Given the description of an element on the screen output the (x, y) to click on. 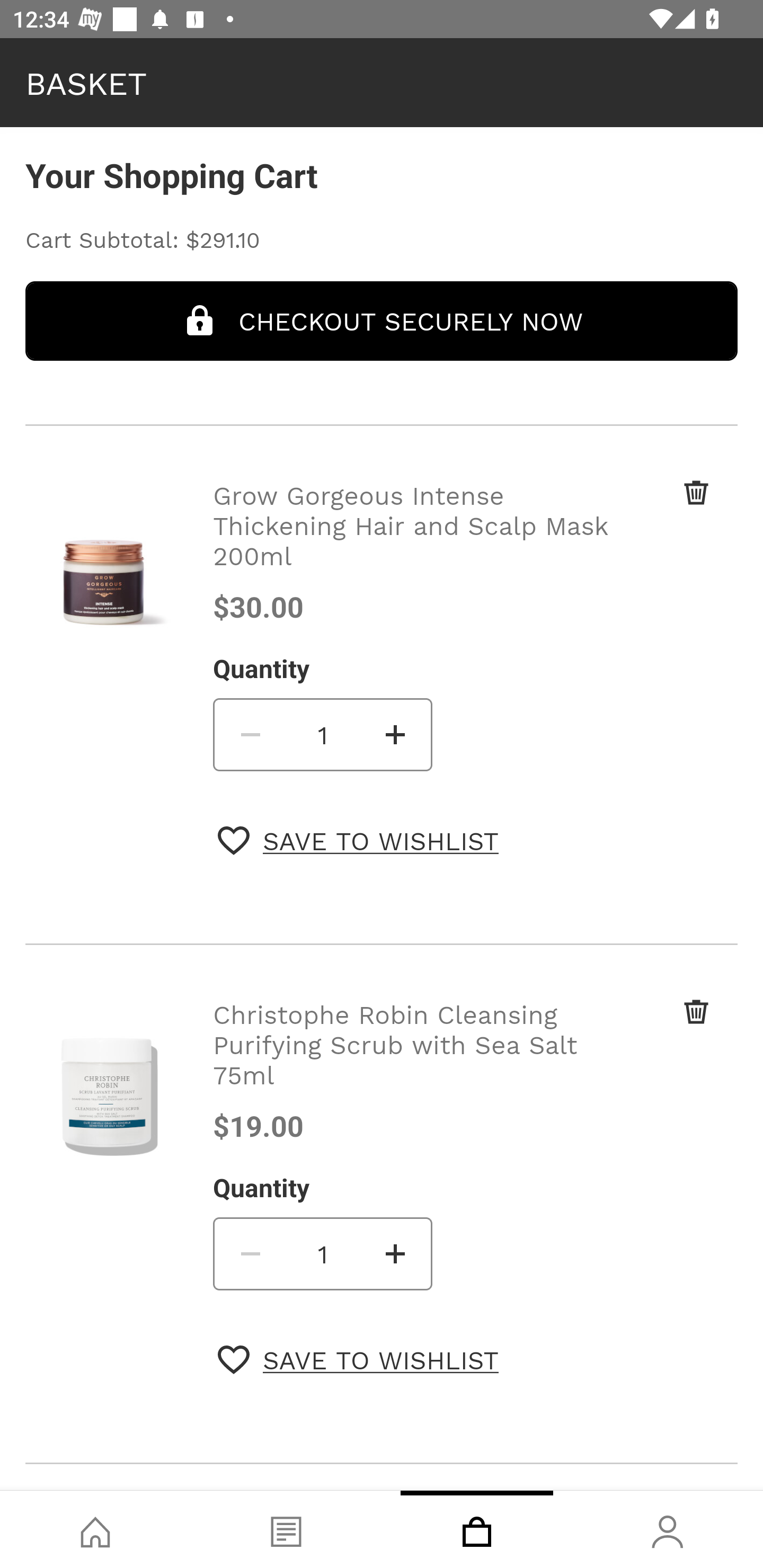
Checkout Securely Now CHECKOUT SECURELY NOW (381, 320)
Remove this item (661, 513)
Decrease quantity (249, 734)
Increase quantity (395, 734)
Save to Wishlist SAVE TO WISHLIST (357, 840)
Remove this item (661, 1032)
Decrease quantity (249, 1253)
Increase quantity (395, 1253)
Save to Wishlist SAVE TO WISHLIST (357, 1359)
Shop, tab, 1 of 4 (95, 1529)
Blog, tab, 2 of 4 (285, 1529)
Basket, tab, 3 of 4 (476, 1529)
Account, tab, 4 of 4 (667, 1529)
